Given the description of an element on the screen output the (x, y) to click on. 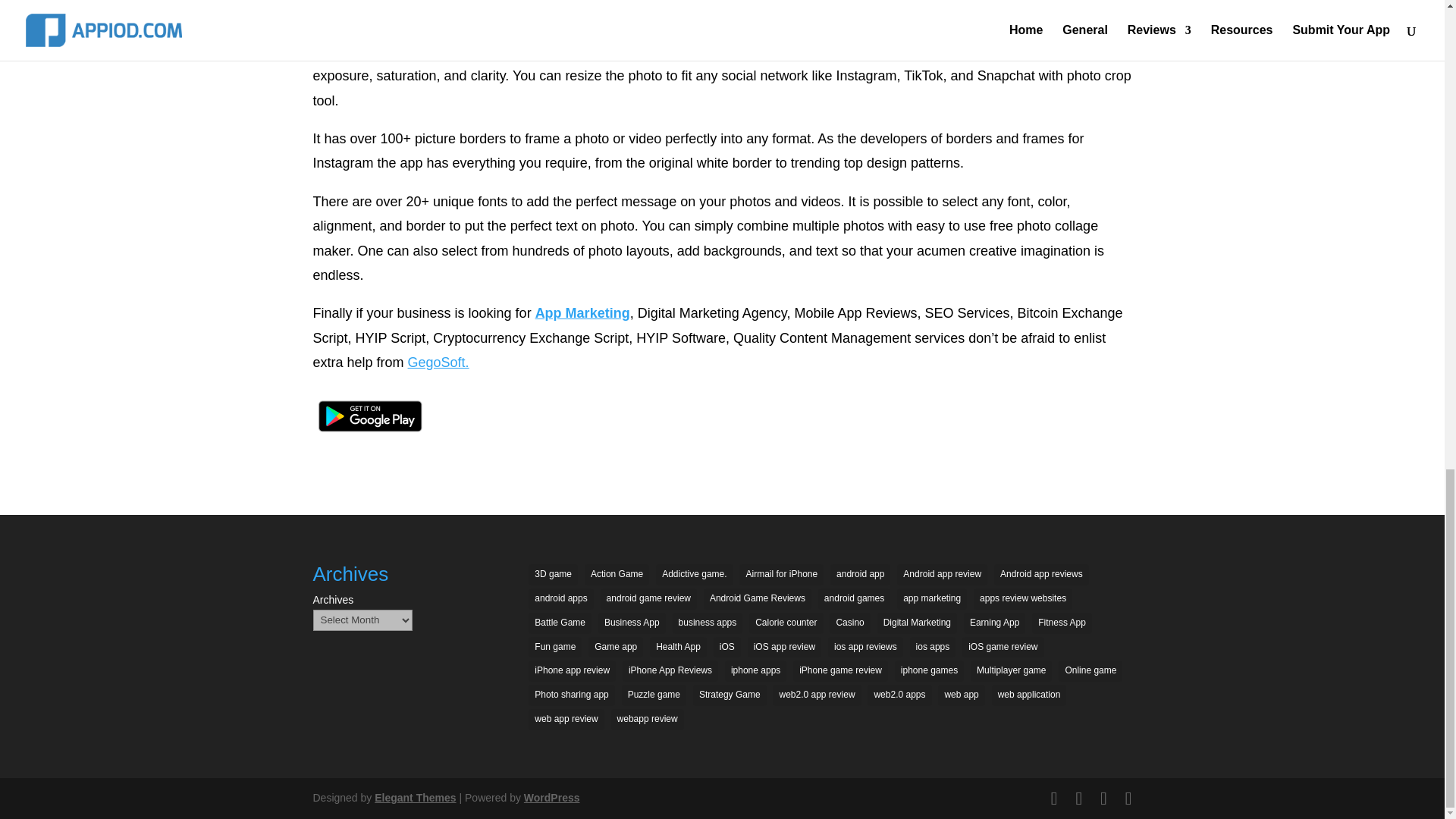
android game review (648, 598)
App Marketing (582, 313)
Premium WordPress Themes (414, 797)
3D game (553, 574)
android app (859, 574)
Android Game Reviews (756, 598)
android apps (560, 598)
Action Game (617, 574)
GegoSoft. (437, 362)
Android app review (941, 574)
app marketing (931, 598)
android games (853, 598)
Addictive game. (694, 574)
apps review websites (1022, 598)
Android app reviews (1041, 574)
